Given the description of an element on the screen output the (x, y) to click on. 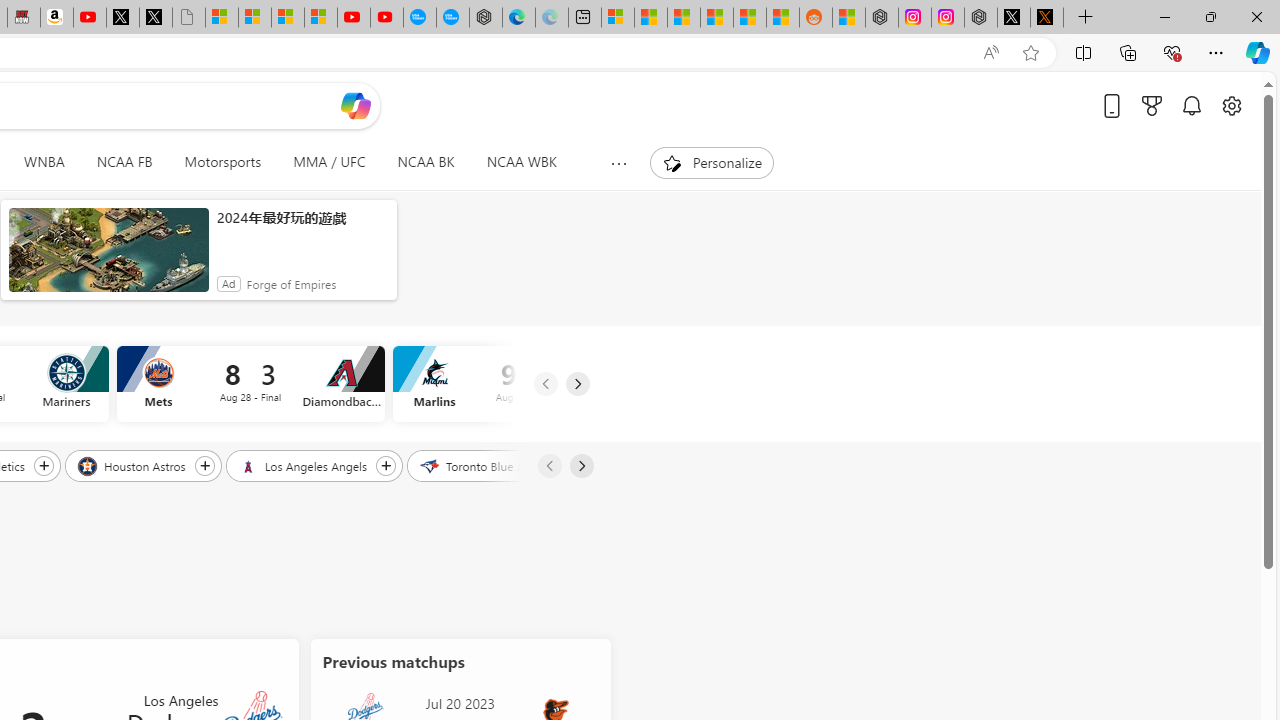
Houston Astros (132, 465)
NCAA FB (124, 162)
Next (580, 465)
Follow Houston Astros (204, 465)
Open Copilot (356, 105)
MMA / UFC (328, 162)
Ad (228, 283)
Open Copilot (355, 105)
Forge of Empires (290, 283)
